Given the description of an element on the screen output the (x, y) to click on. 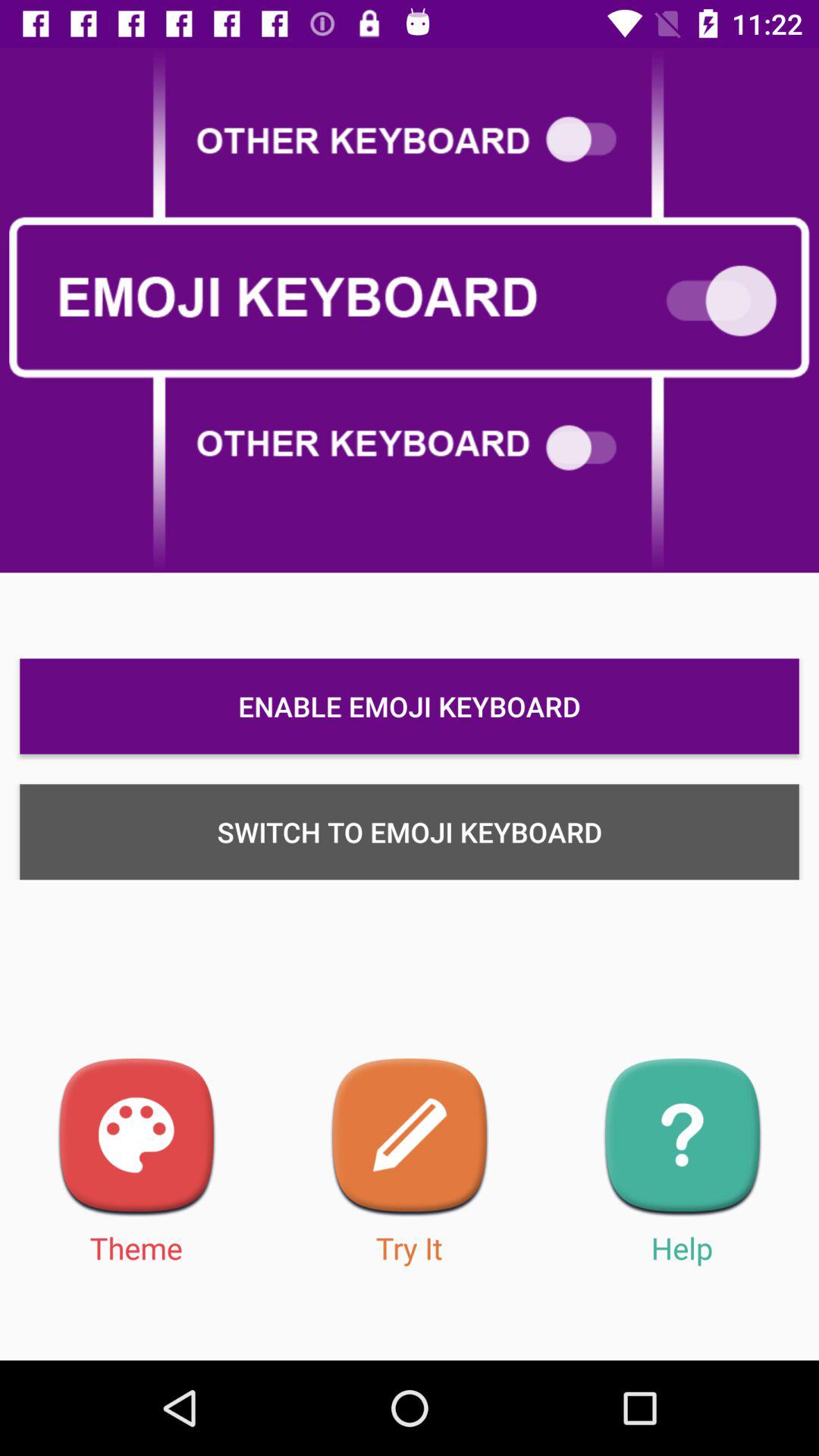
try it button (409, 1137)
